Given the description of an element on the screen output the (x, y) to click on. 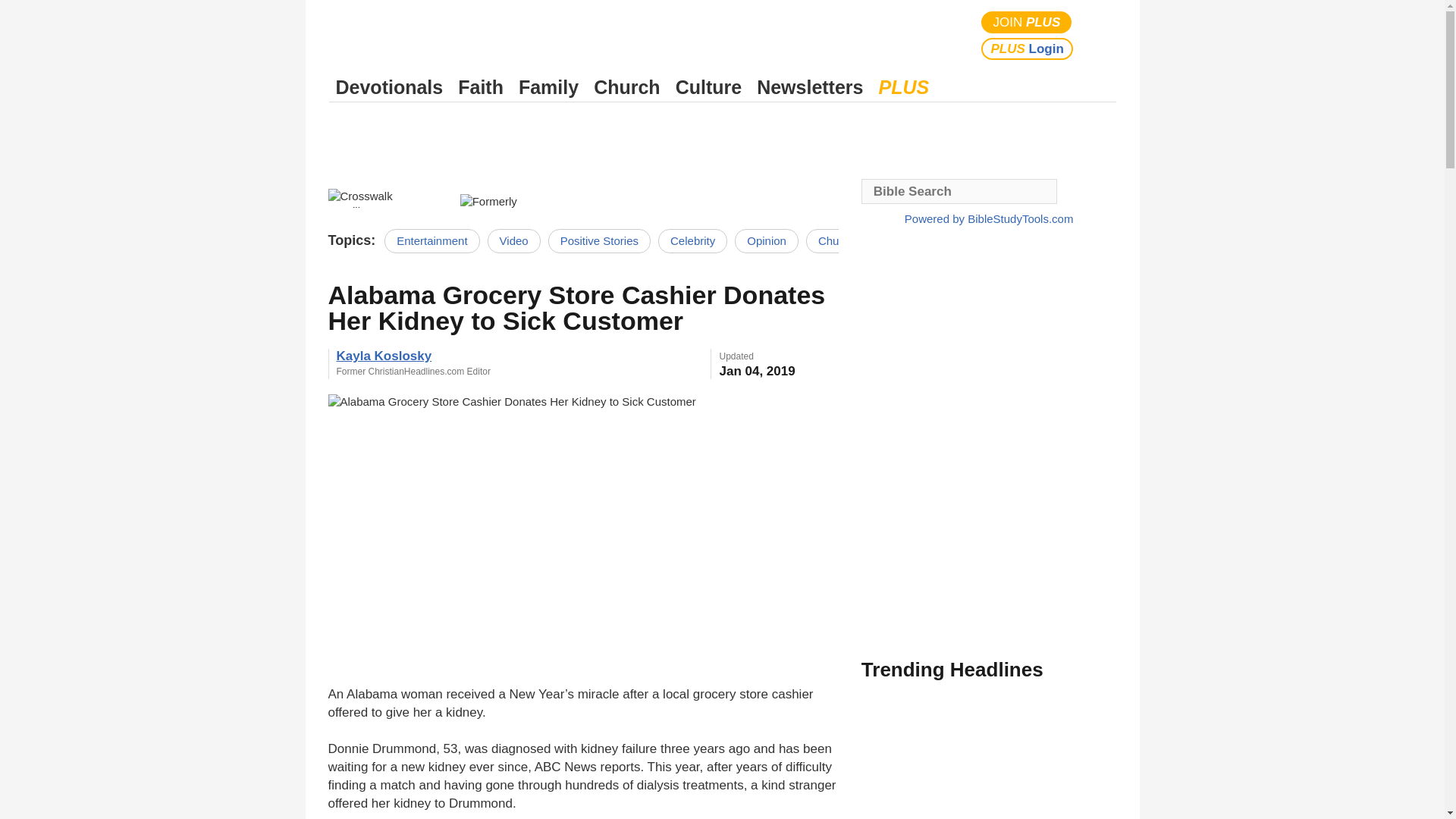
Faith (481, 87)
Crosswalk Headlines (385, 196)
Devotionals (389, 87)
Family (548, 87)
JOIN PLUS (1026, 22)
Search (1101, 34)
PLUS Login (1026, 48)
Join Plus (1026, 22)
Plus Login (1026, 48)
